Given the description of an element on the screen output the (x, y) to click on. 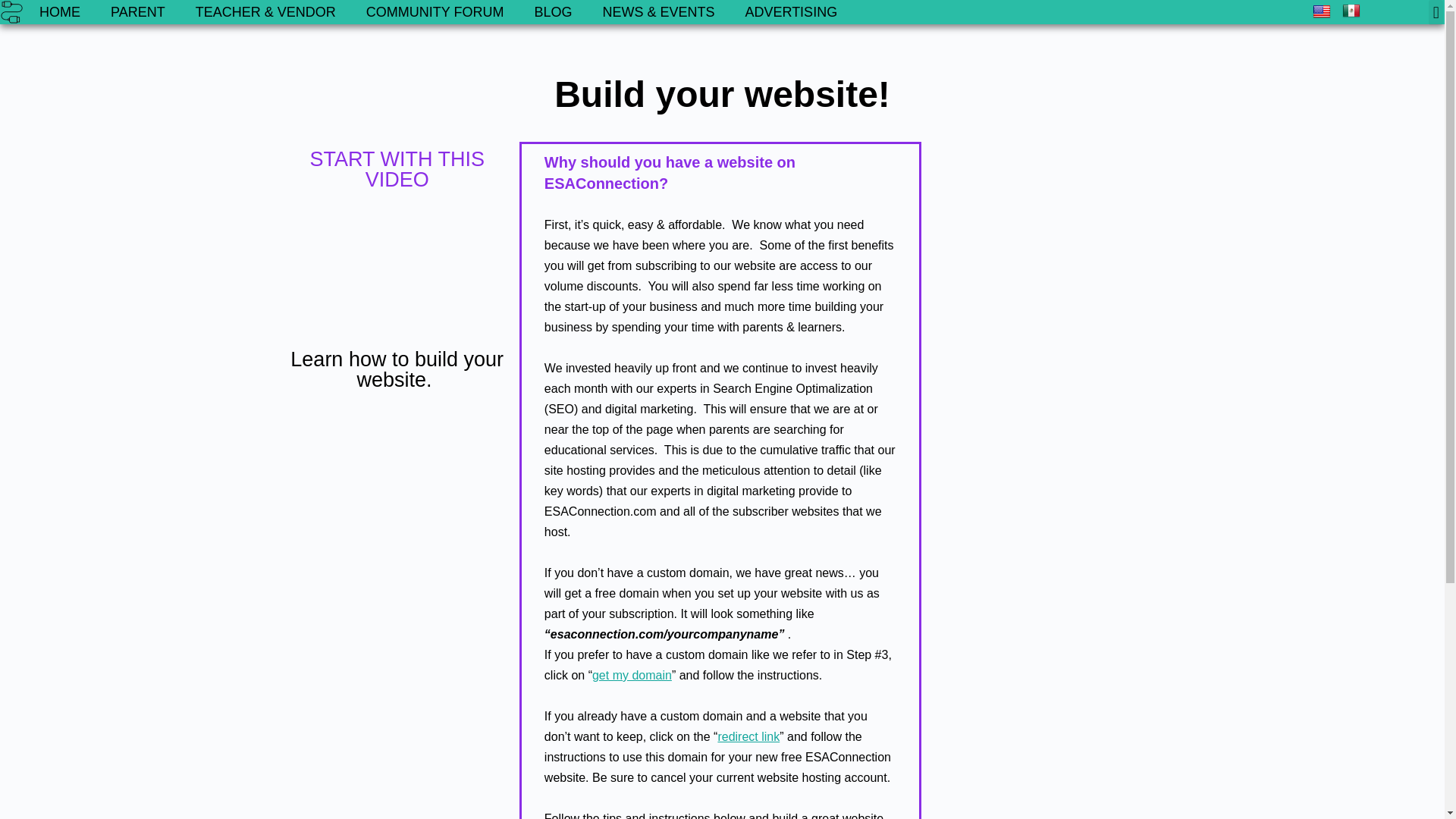
icon (12, 12)
get my domain (631, 675)
English (1324, 11)
Spanish (1353, 10)
HOME (60, 11)
BLOG (552, 11)
PARENT (138, 11)
ADVERTISING (790, 11)
COMMUNITY FORUM (434, 11)
redirect link (747, 736)
